Given the description of an element on the screen output the (x, y) to click on. 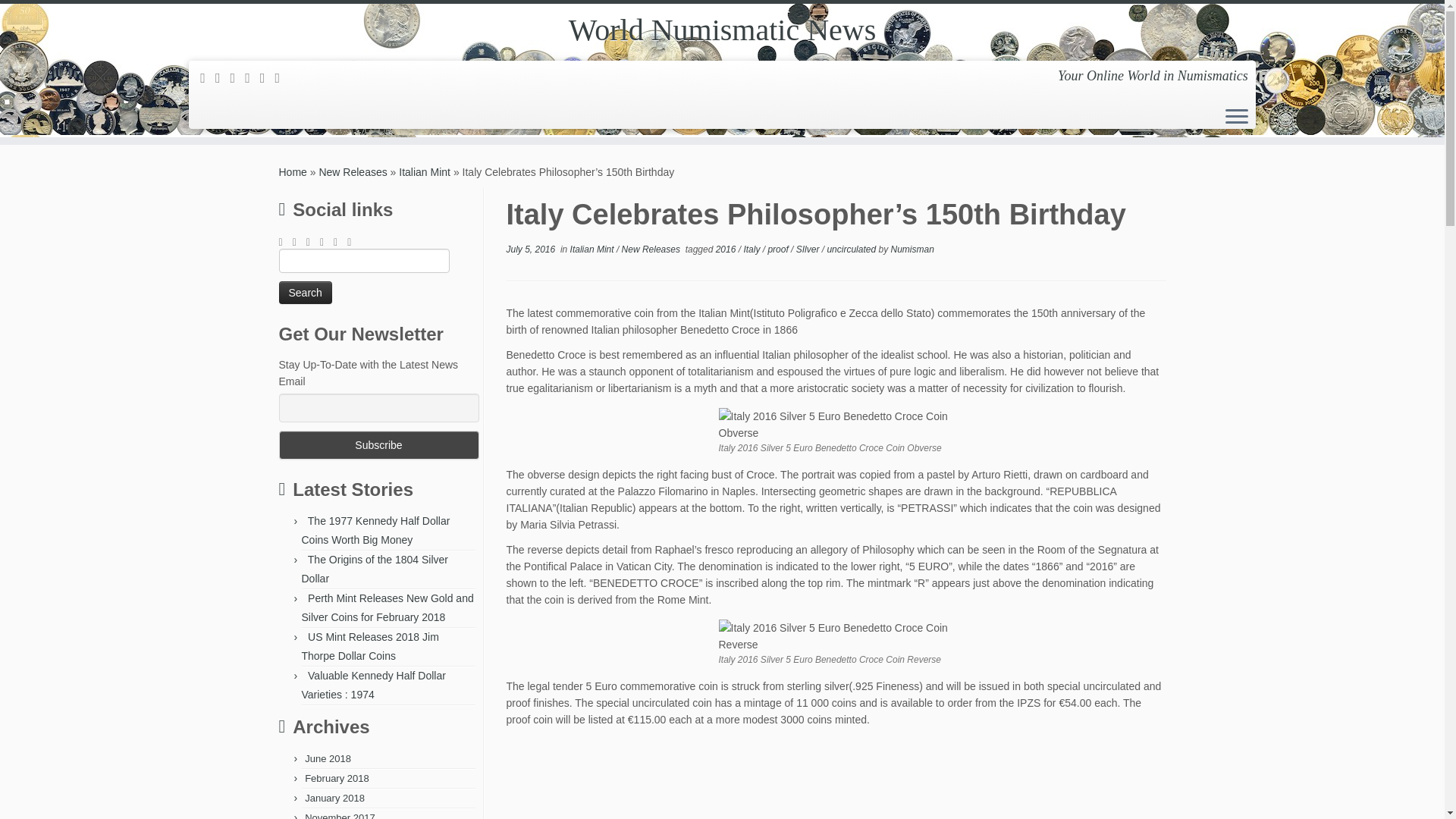
Follow me on Facebook (238, 77)
June 2018 (327, 758)
The 1977 Kennedy Half Dollar Coins Worth Big Money (375, 530)
Valuable Kennedy Half Dollar Varieties : 1974 (373, 685)
February 2018 (336, 778)
Search (305, 292)
Italian Mint (423, 172)
Search (305, 292)
New Releases (352, 172)
